Given the description of an element on the screen output the (x, y) to click on. 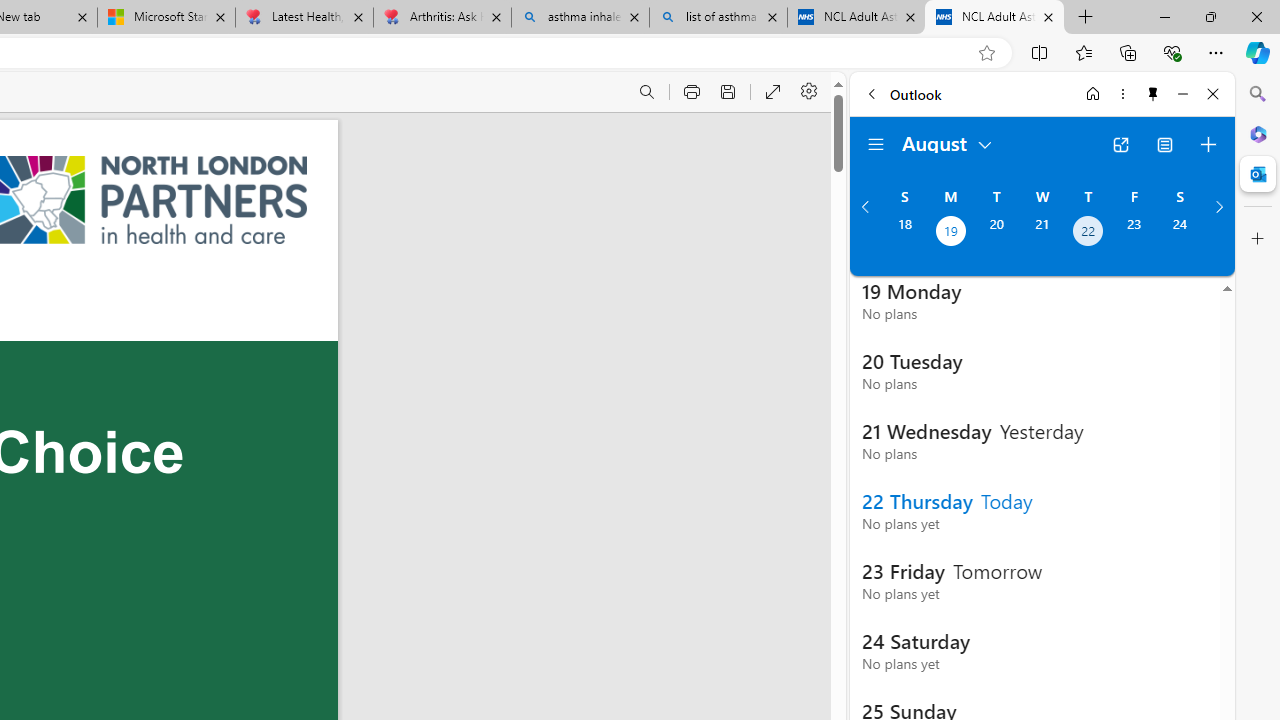
Find (Ctrl + F) (646, 92)
Thursday, August 22, 2024. Today.  (1088, 233)
More options (1122, 93)
Print (Ctrl+P) (692, 92)
Folder navigation (876, 144)
Microsoft 365 (1258, 133)
NCL Adult Asthma Inhaler Choice Guideline (994, 17)
